Given the description of an element on the screen output the (x, y) to click on. 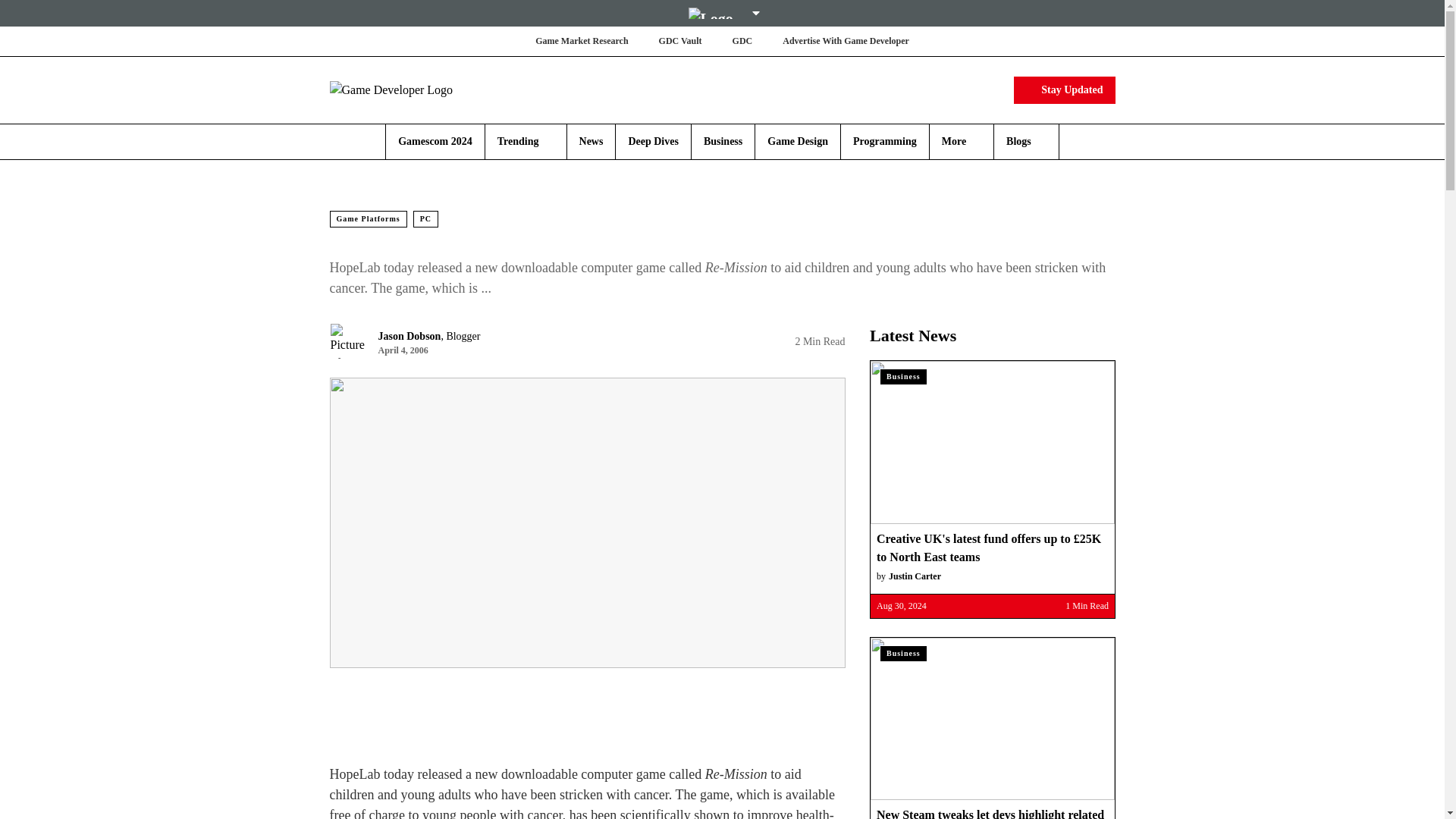
GDC Vault (680, 41)
Programming (885, 141)
Game Market Research (581, 41)
Business (722, 141)
Game Developer Logo (419, 90)
Stay Updated (1064, 89)
News (591, 141)
Game Design (797, 141)
Deep Dives (652, 141)
Gamescom 2024 (434, 141)
